Given the description of an element on the screen output the (x, y) to click on. 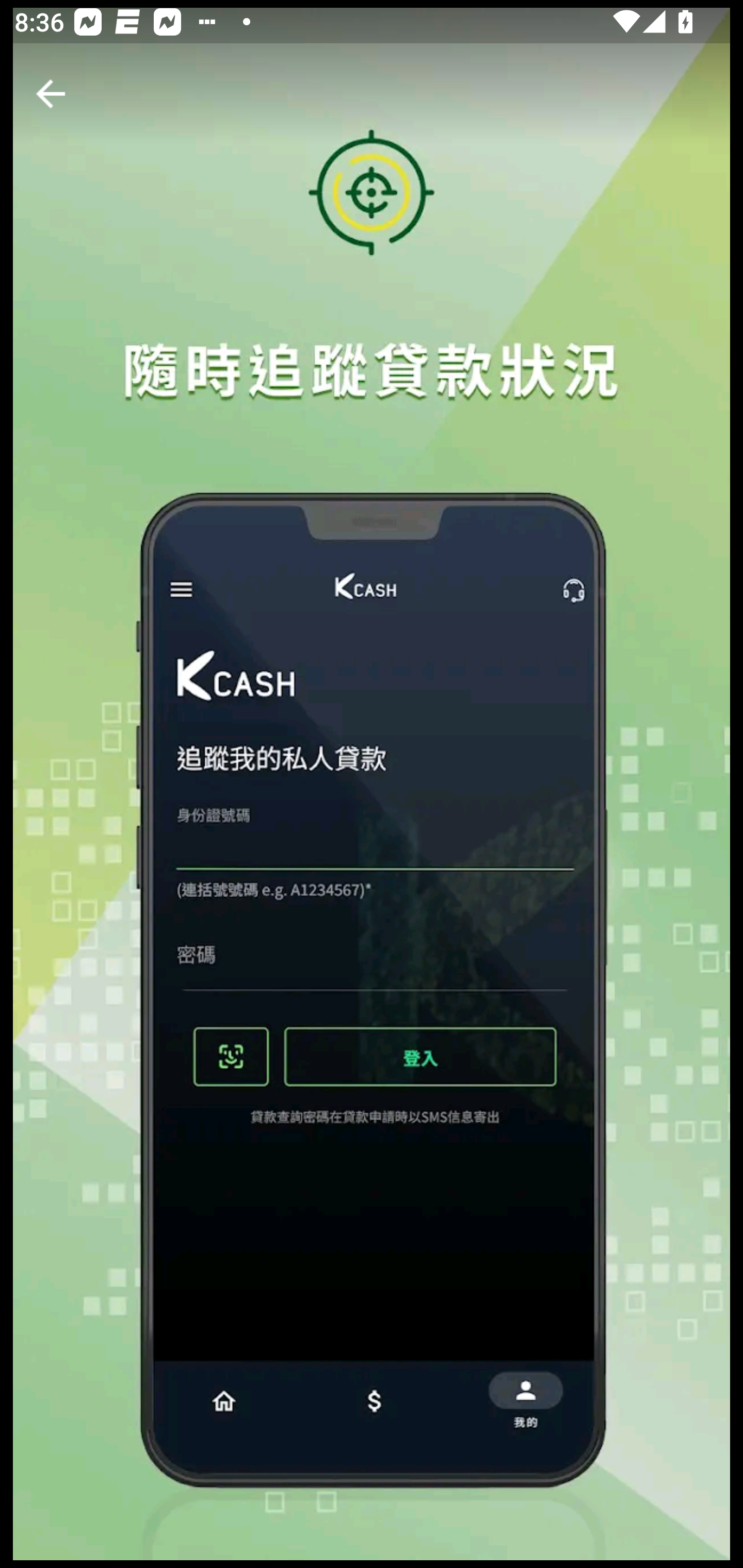
Back (50, 93)
